Given the description of an element on the screen output the (x, y) to click on. 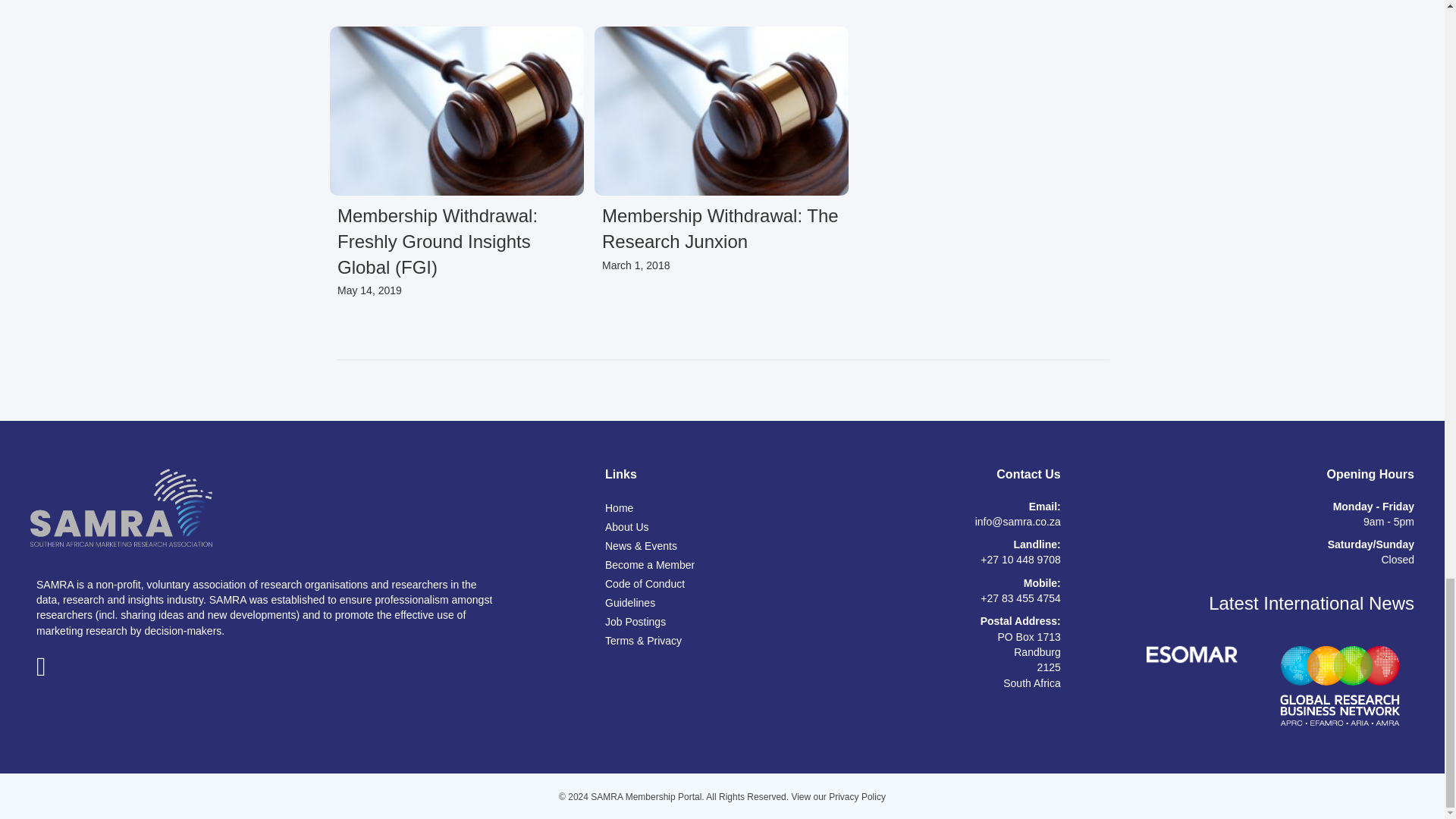
Membership Withdrawal: The Research Junxion (720, 228)
